Given the description of an element on the screen output the (x, y) to click on. 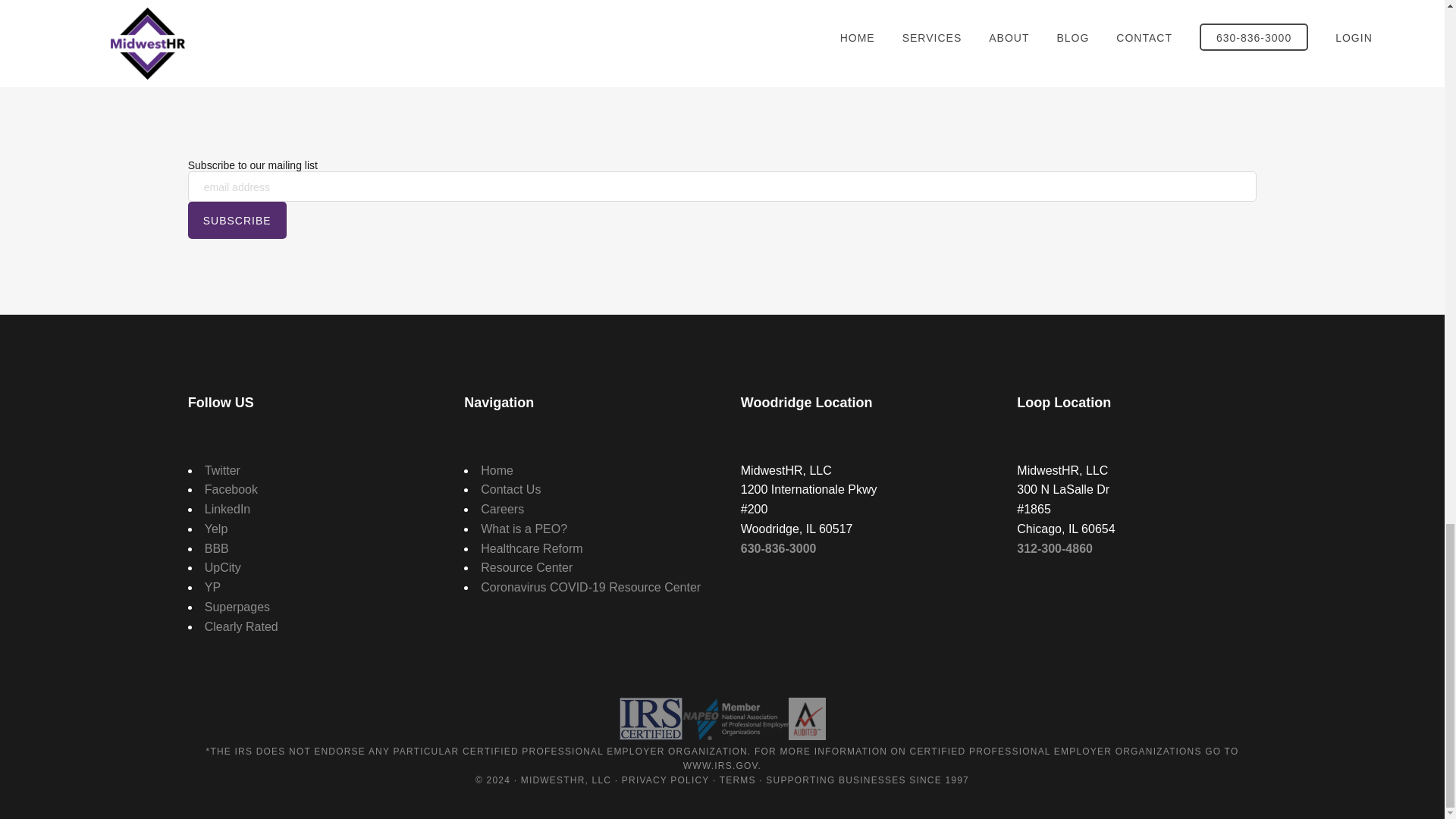
Subscribe (236, 220)
